Given the description of an element on the screen output the (x, y) to click on. 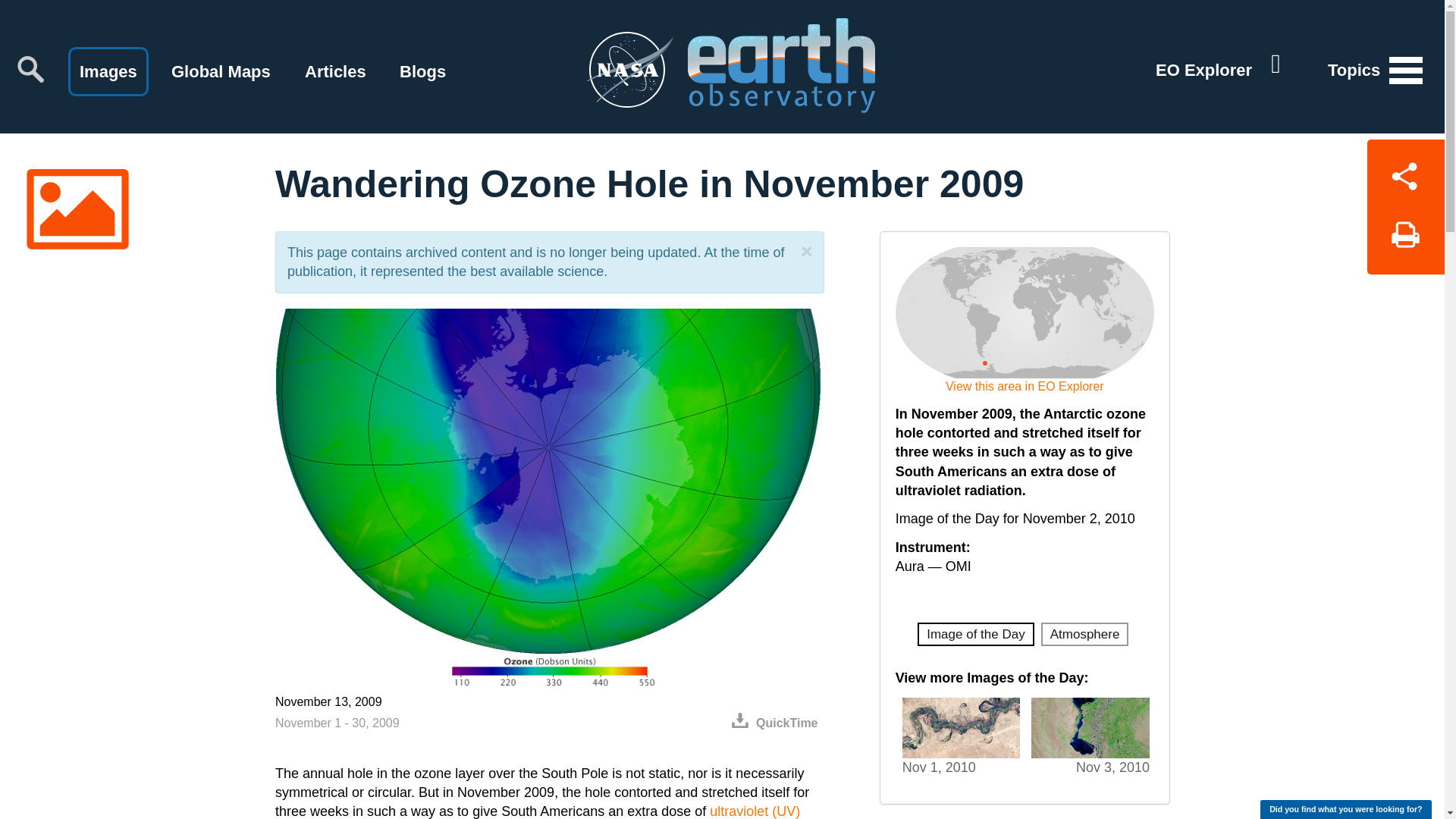
pointer (984, 361)
Share (1405, 173)
Print (1405, 240)
Search (30, 69)
